Given the description of an element on the screen output the (x, y) to click on. 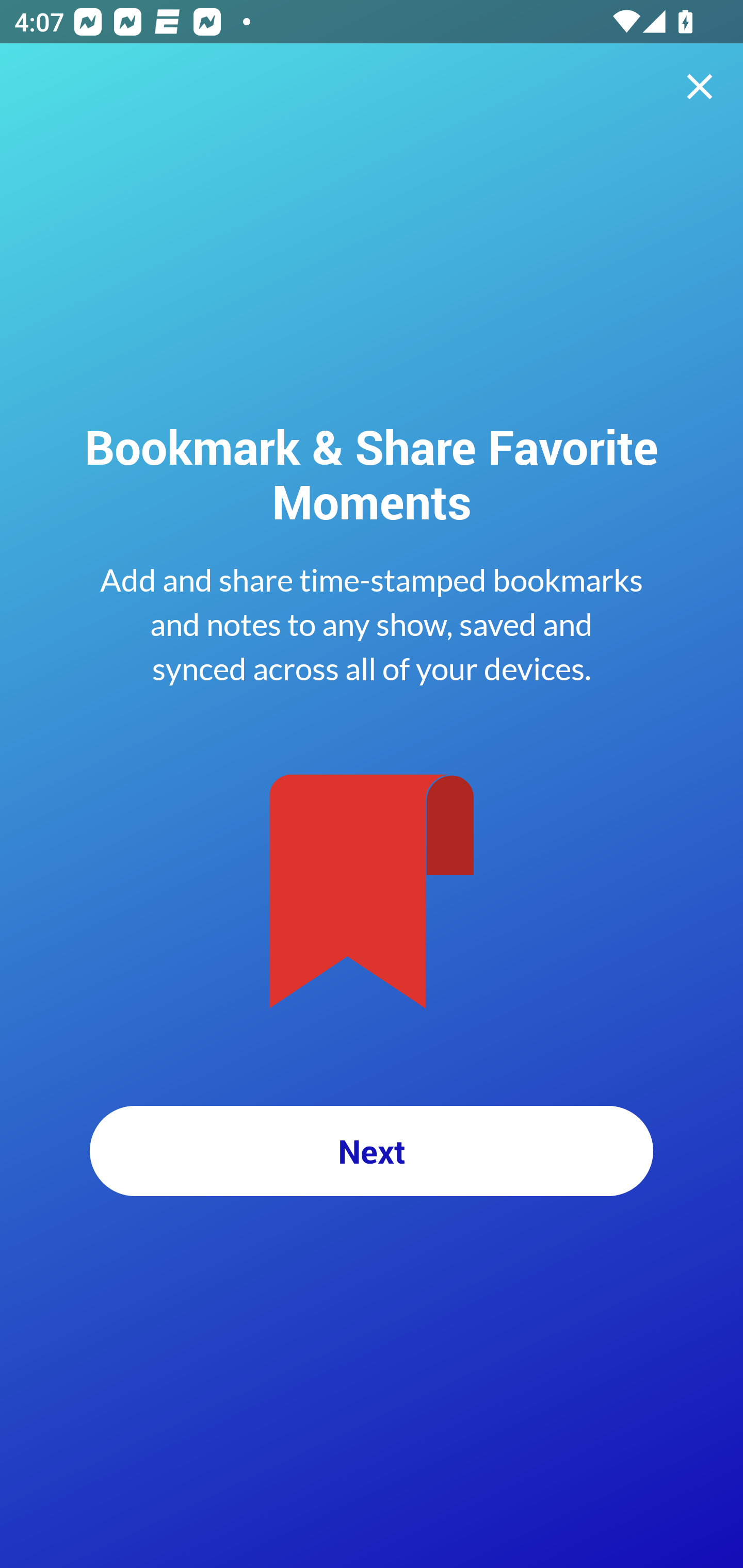
Close dialog (699, 86)
Next (371, 1150)
